Given the description of an element on the screen output the (x, y) to click on. 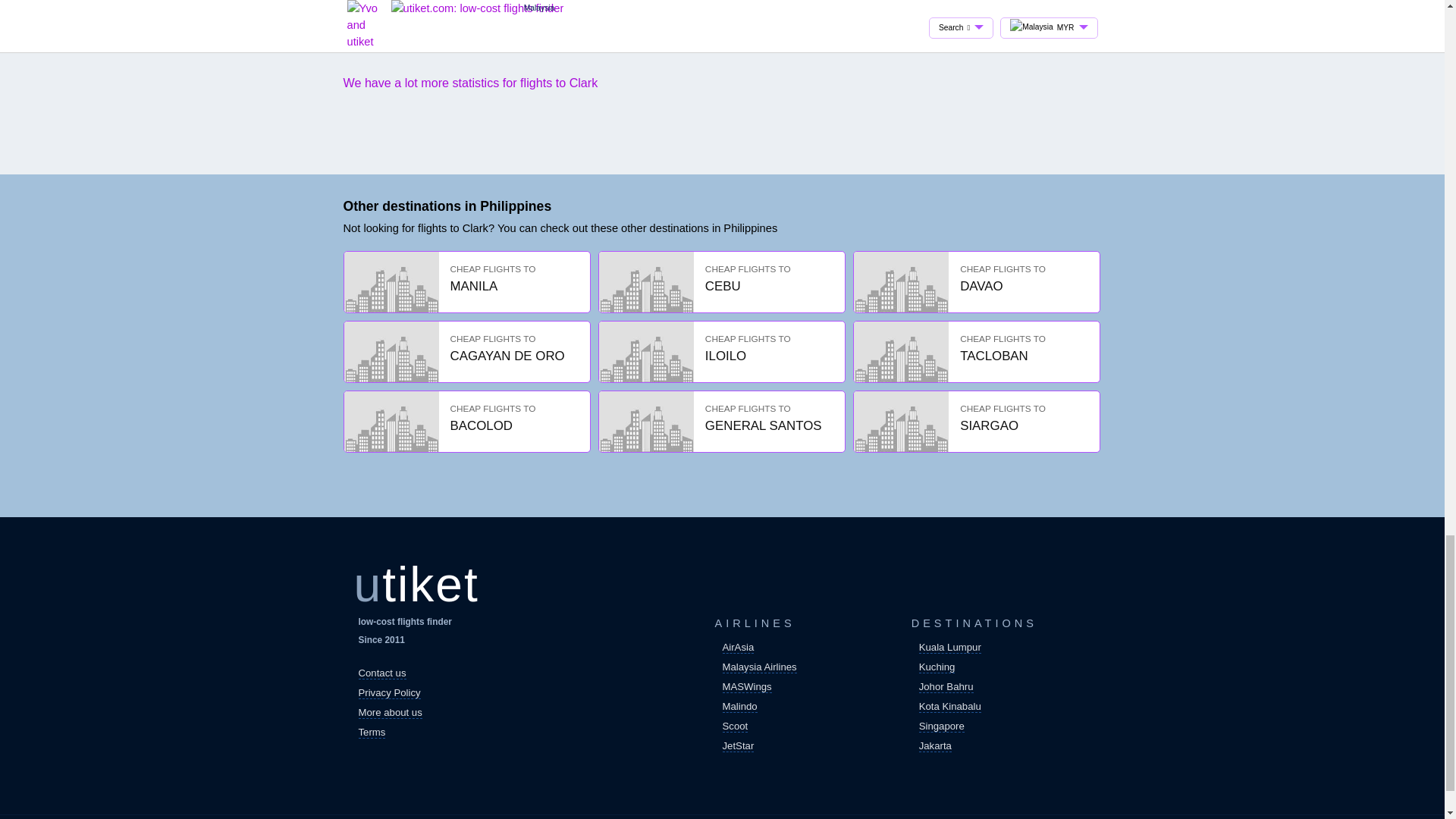
Utiket on Twitter (466, 357)
Utiket on Facebook (976, 427)
